Given the description of an element on the screen output the (x, y) to click on. 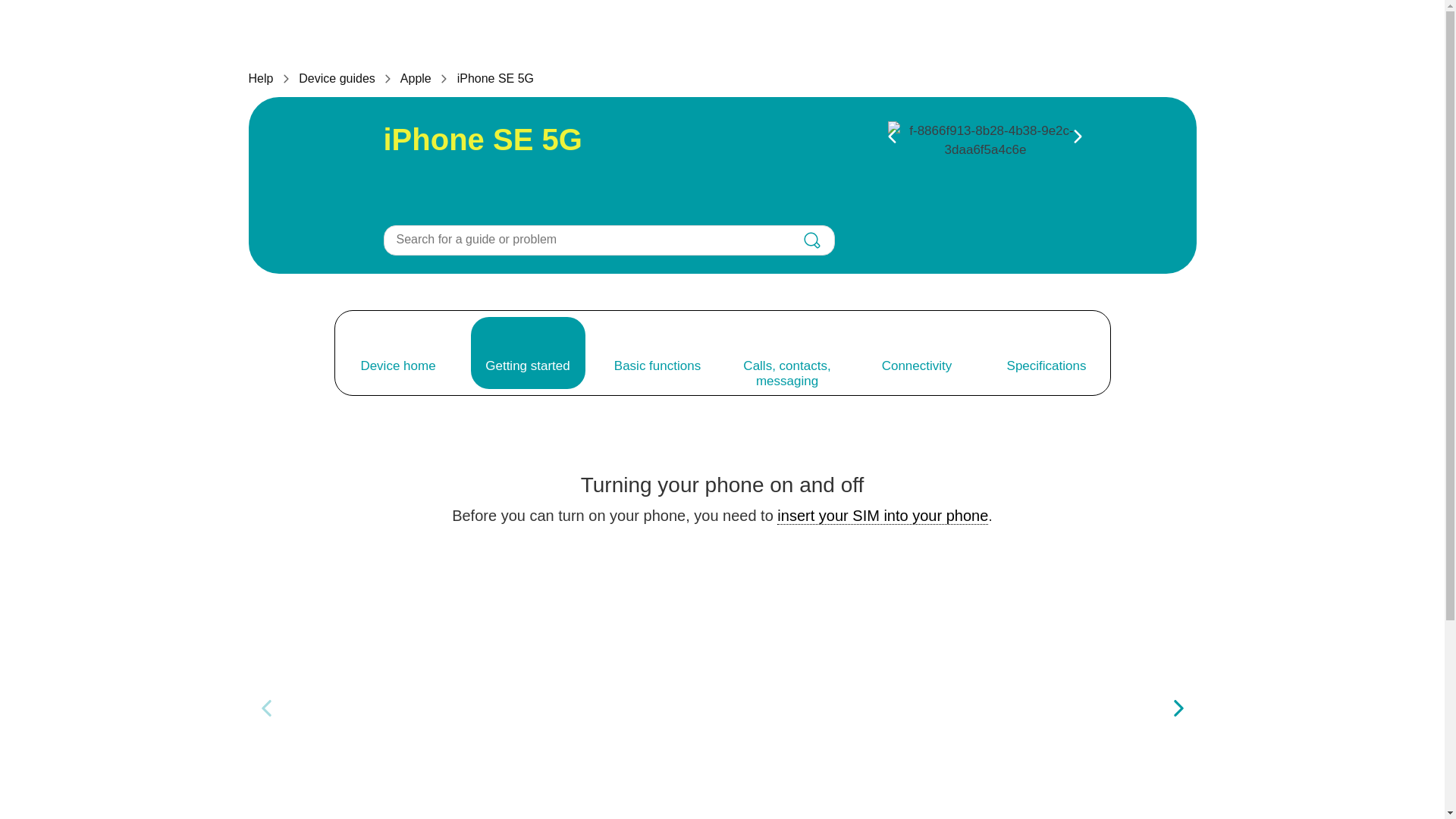
Connectivity (917, 352)
iPhone SE 5G (495, 78)
Device guides (336, 78)
Getting started (527, 352)
Basic functions (656, 352)
Apple (415, 78)
Device home (397, 352)
insert your SIM into your phone (882, 515)
Help (260, 78)
Specifications (1045, 352)
